Given the description of an element on the screen output the (x, y) to click on. 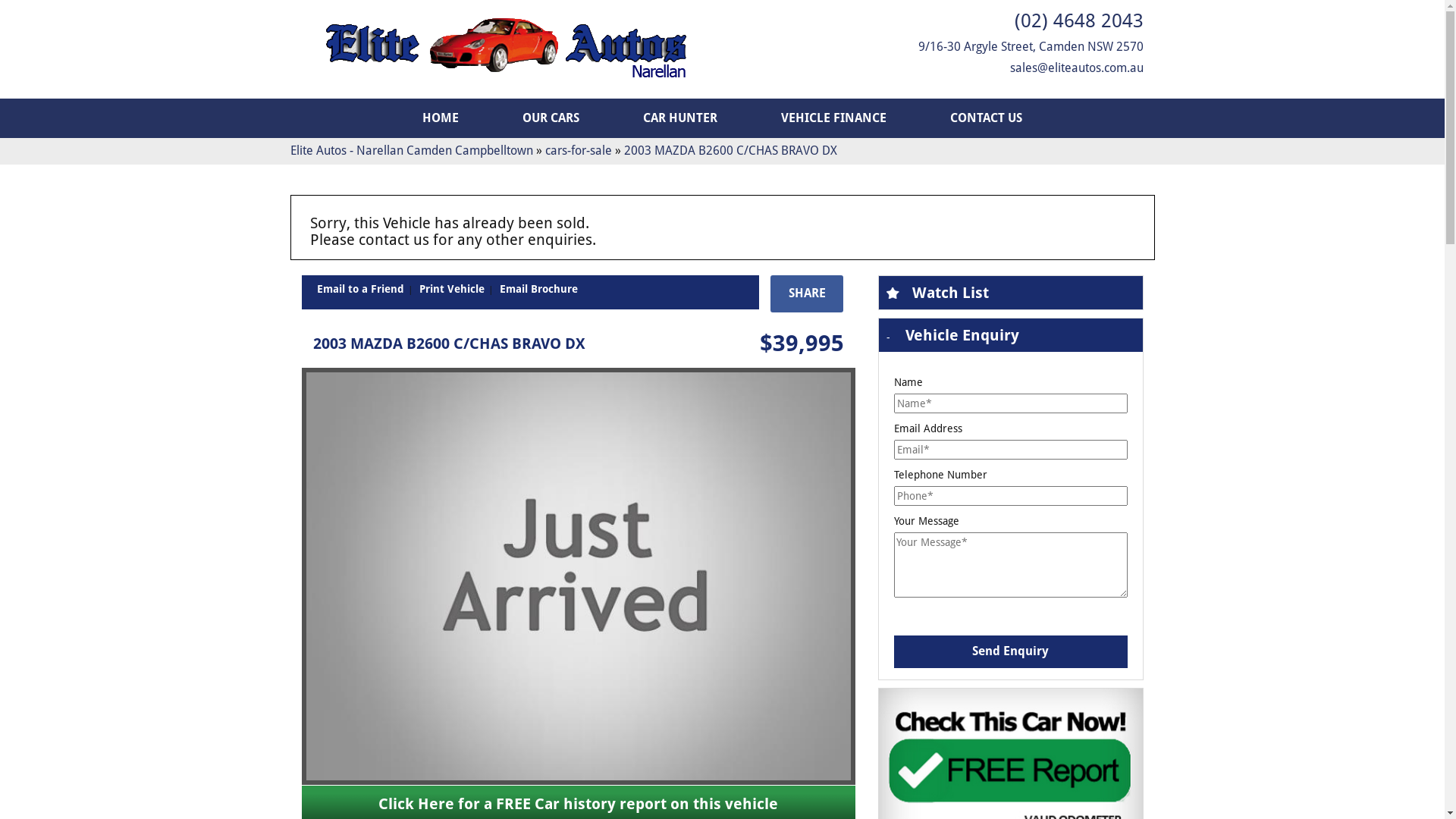
(02) 4648 2043 Element type: text (1078, 20)
2003 MAZDA B2600 C/CHAS BRAVO DX Element type: text (729, 150)
Elite Autos Narellan Element type: hover (506, 49)
Elite Autos - Narellan Camden Campbelltown Element type: text (410, 150)
sales@eliteautos.com.au Element type: text (1076, 67)
Watch List Element type: text (1010, 292)
CAR HUNTER Element type: text (679, 118)
Email Brochure Element type: text (537, 288)
Send Enquiry Element type: text (1009, 651)
HOME Element type: text (440, 118)
VEHICLE FINANCE Element type: text (833, 118)
Print Vehicle Element type: text (450, 288)
OUR CARS Element type: text (550, 118)
Email to a Friend Element type: text (360, 288)
CONTACT US Element type: text (985, 118)
cars-for-sale Element type: text (577, 150)
Watch List Element type: text (949, 292)
9/16-30 Argyle Street, Camden NSW 2570 Element type: text (1029, 46)
